Given the description of an element on the screen output the (x, y) to click on. 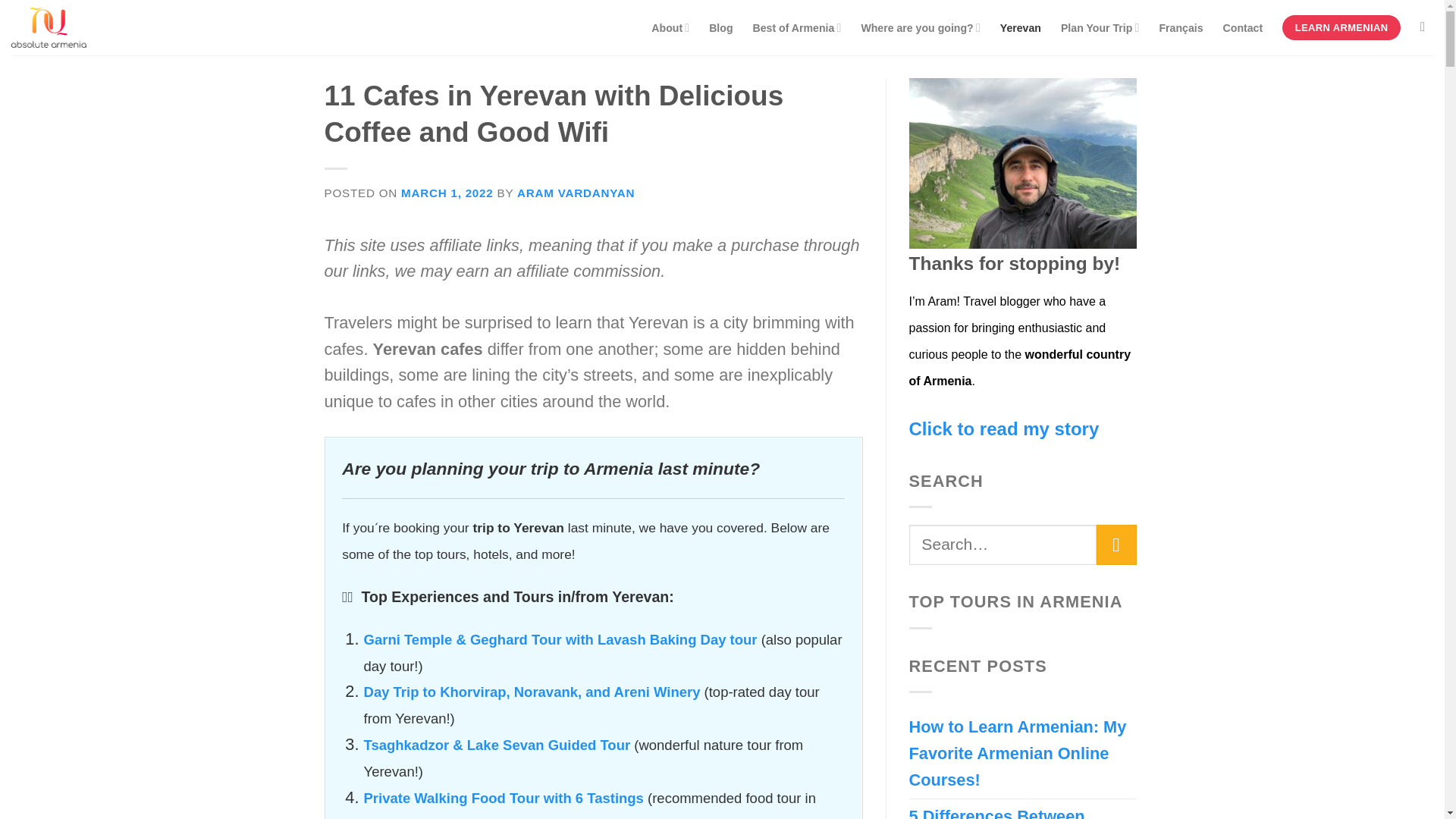
Where are you going? (919, 27)
Best of Armenia (796, 27)
About (669, 27)
Plan Your Trip (1099, 27)
Contact (1243, 27)
MARCH 1, 2022 (447, 192)
Yerevan (1020, 27)
LEARN ARMENIAN (1341, 27)
